Given the description of an element on the screen output the (x, y) to click on. 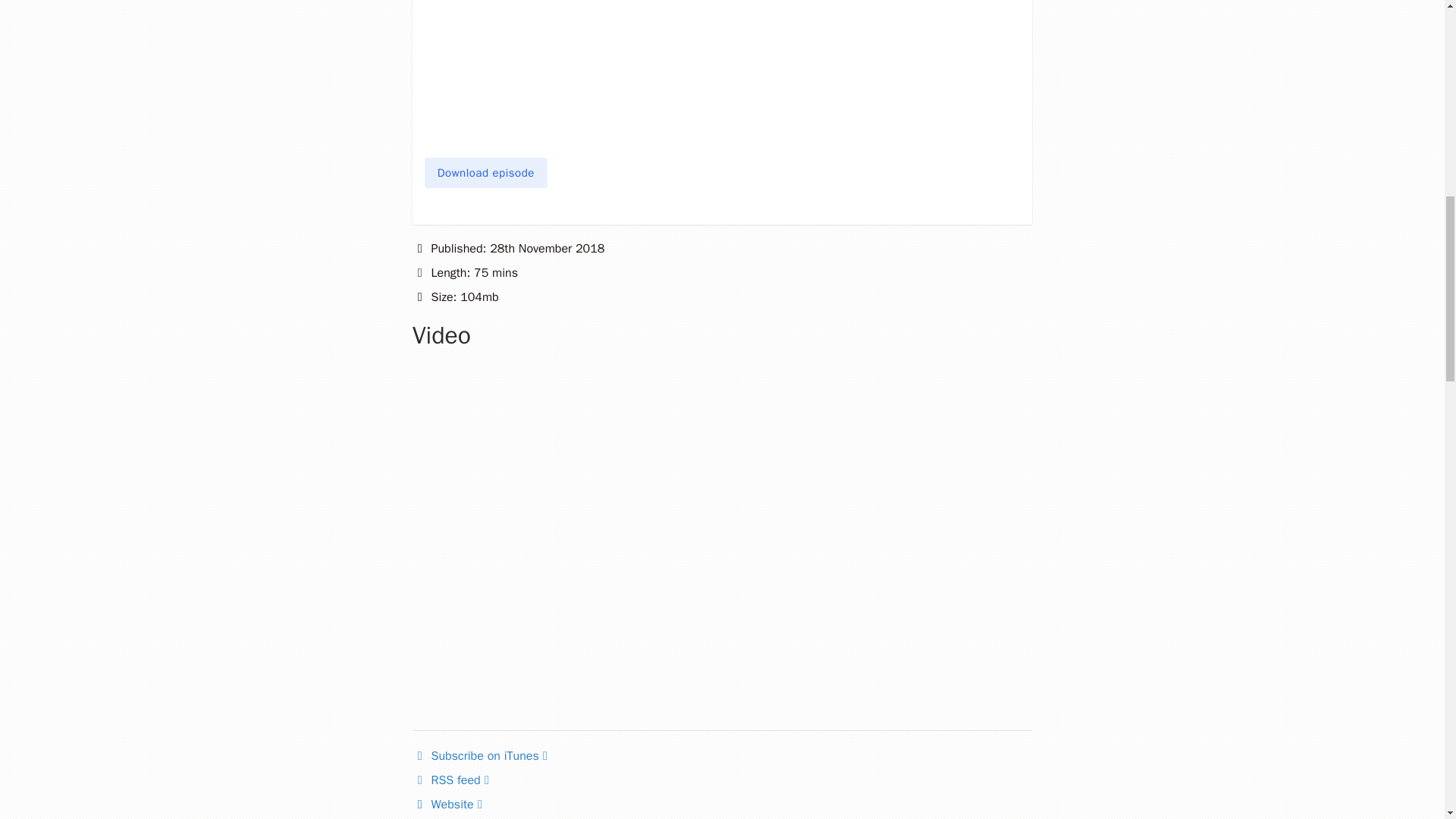
RSS feed (450, 780)
Subscribe on iTunes (479, 755)
Website (446, 804)
Download episode (486, 173)
